Given the description of an element on the screen output the (x, y) to click on. 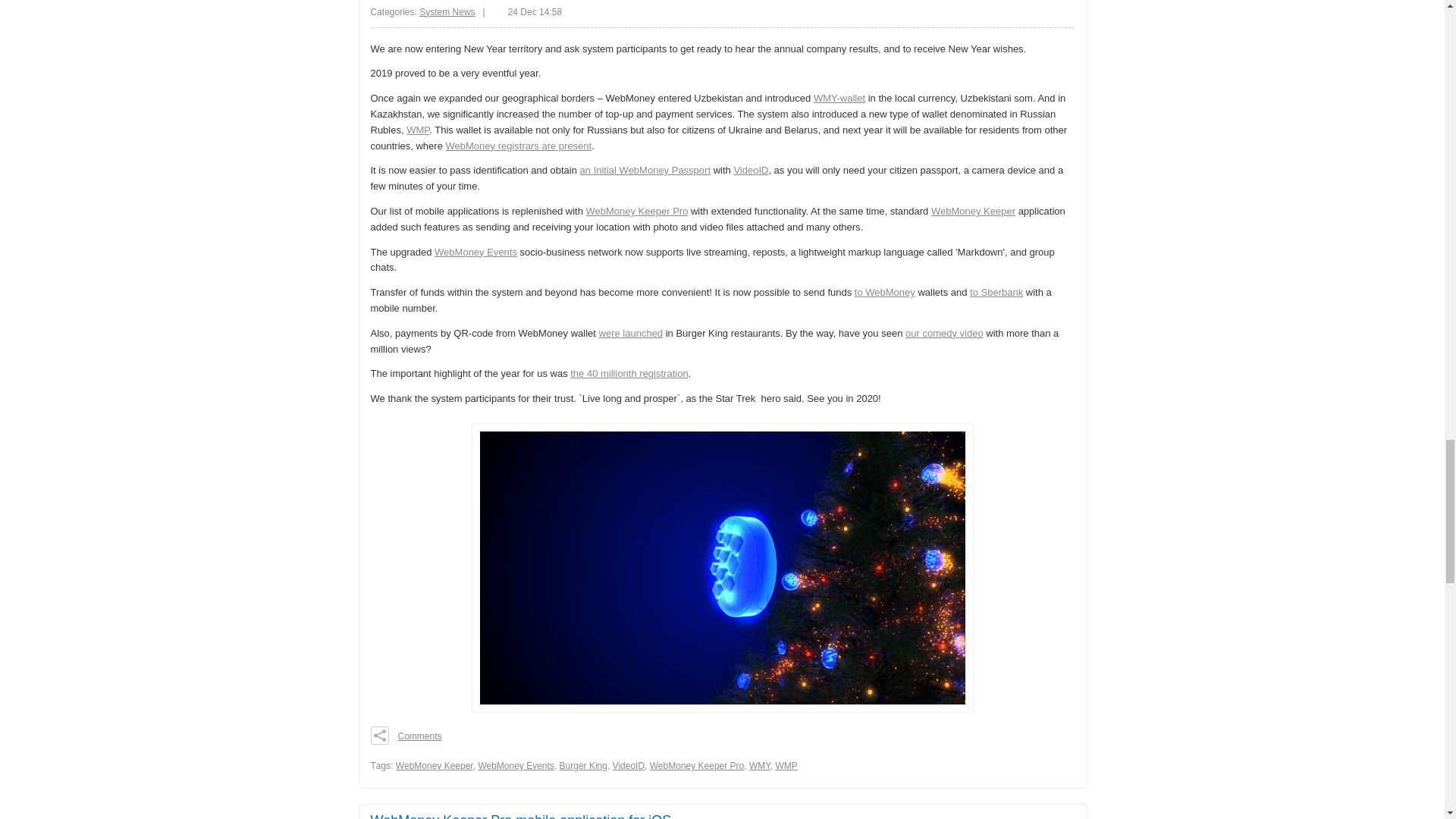
WebMoney Keeper Pro mobile application for iOS (520, 816)
